Given the description of an element on the screen output the (x, y) to click on. 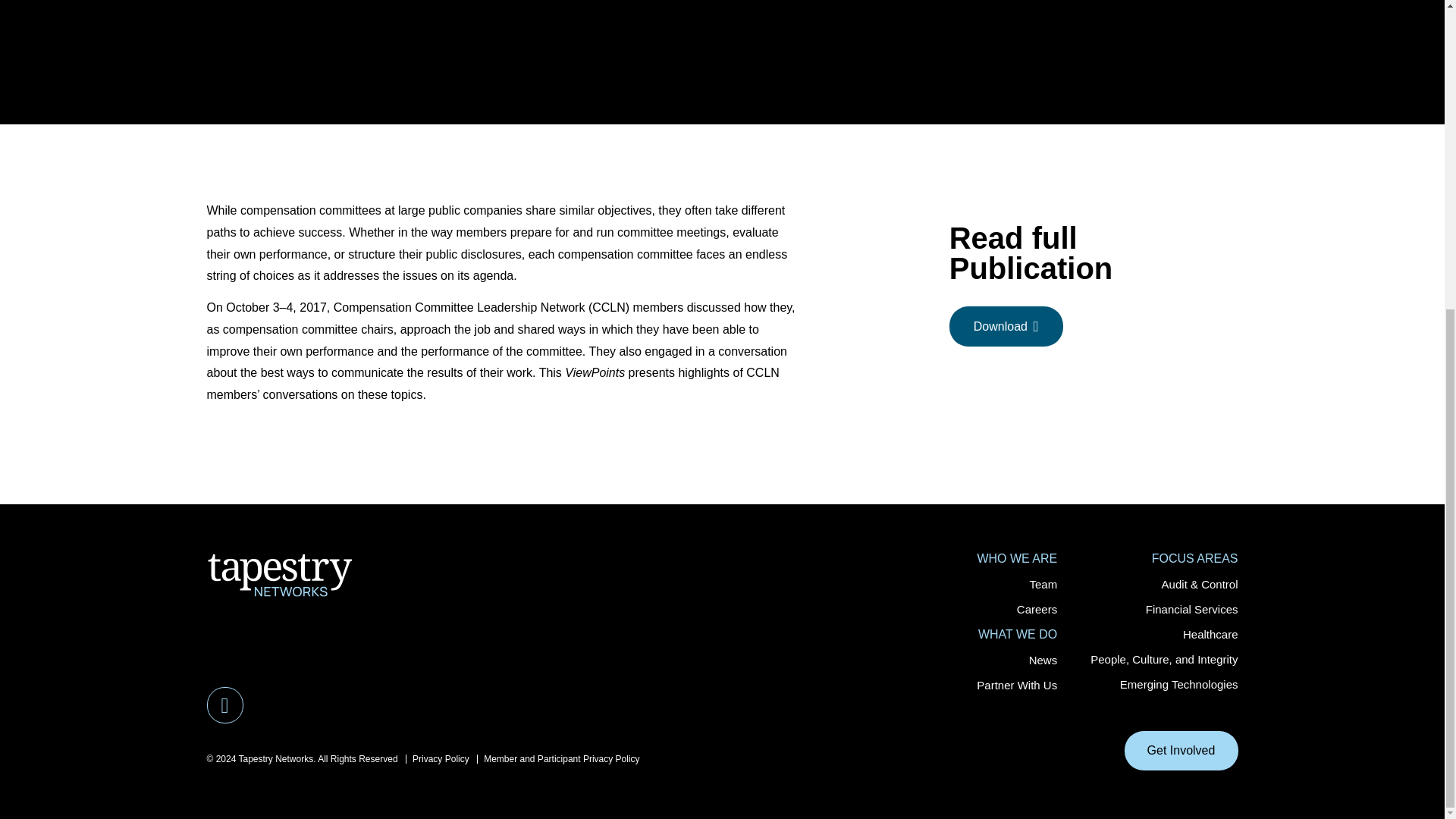
Get Involved (1180, 750)
Emerging Technologies (1179, 683)
Careers (1036, 609)
Linkedin (224, 705)
Team (1043, 583)
News (1043, 660)
WHO WE ARE (1016, 558)
FOCUS AREAS (1195, 558)
Partner With Us (1016, 684)
Download (1005, 326)
